Given the description of an element on the screen output the (x, y) to click on. 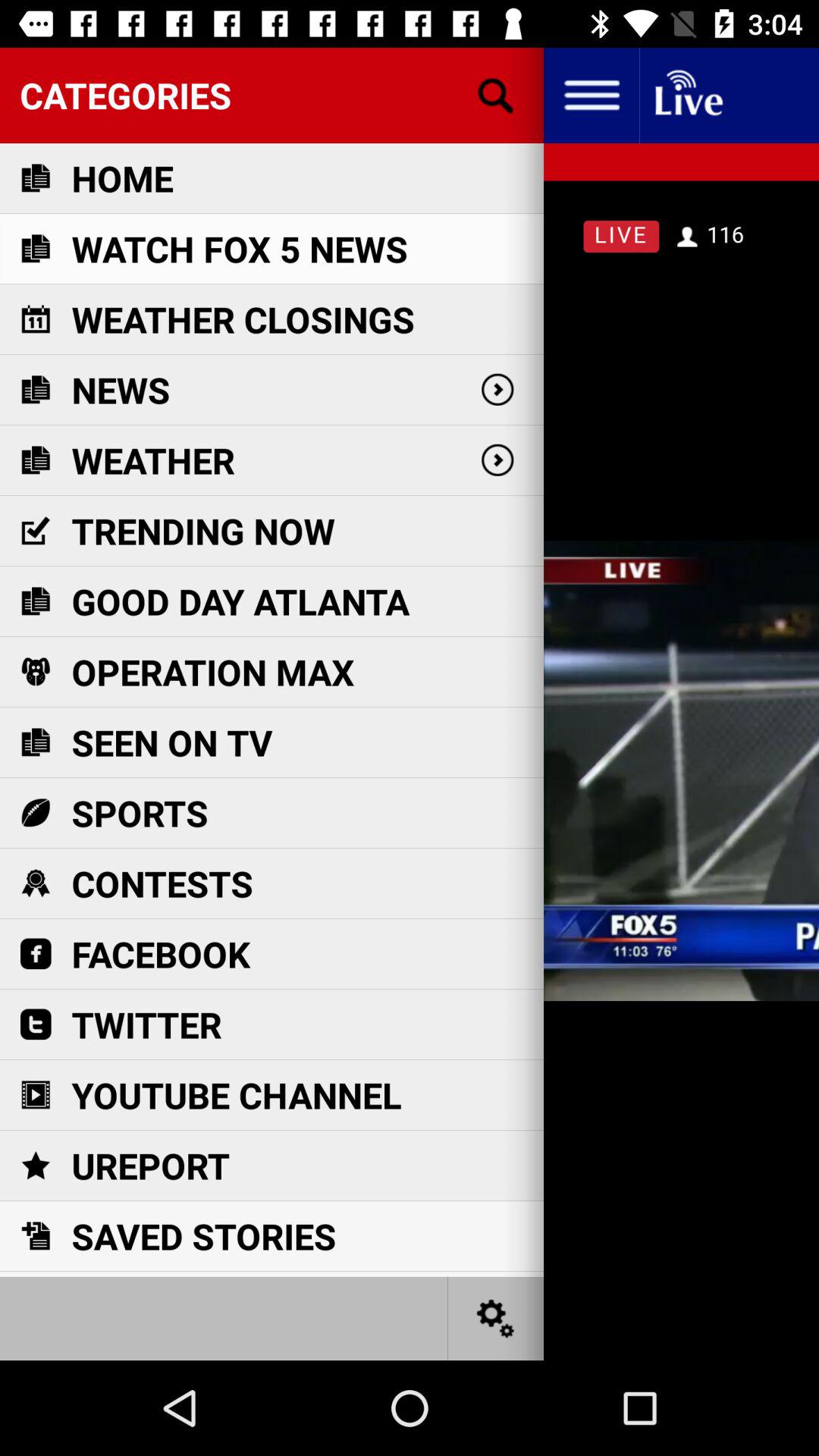
live streaming (687, 95)
